Given the description of an element on the screen output the (x, y) to click on. 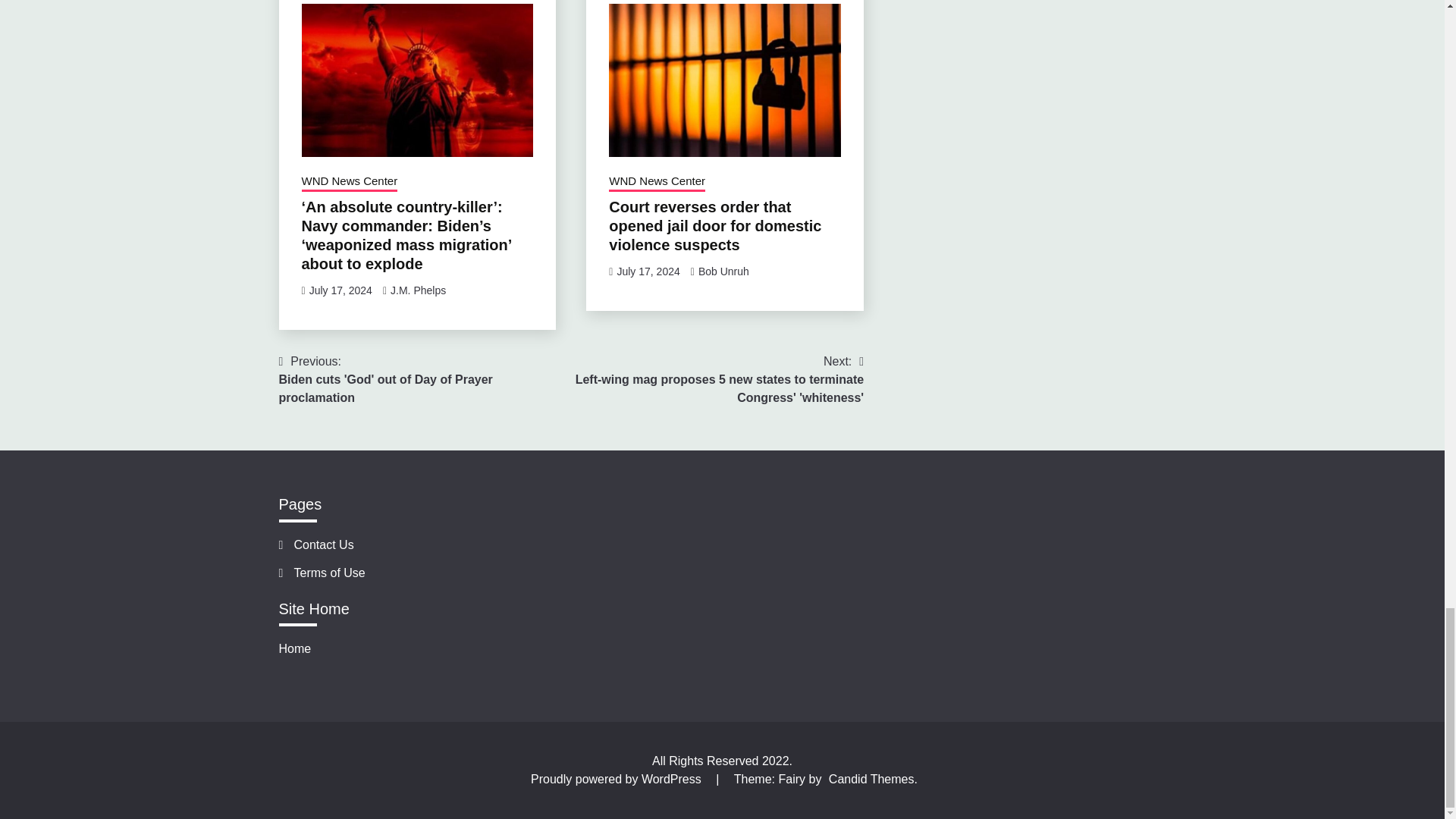
WND News Center (656, 182)
Bob Unruh (723, 271)
J.M. Phelps (417, 290)
July 17, 2024 (425, 379)
WND News Center (647, 271)
July 17, 2024 (349, 182)
